Given the description of an element on the screen output the (x, y) to click on. 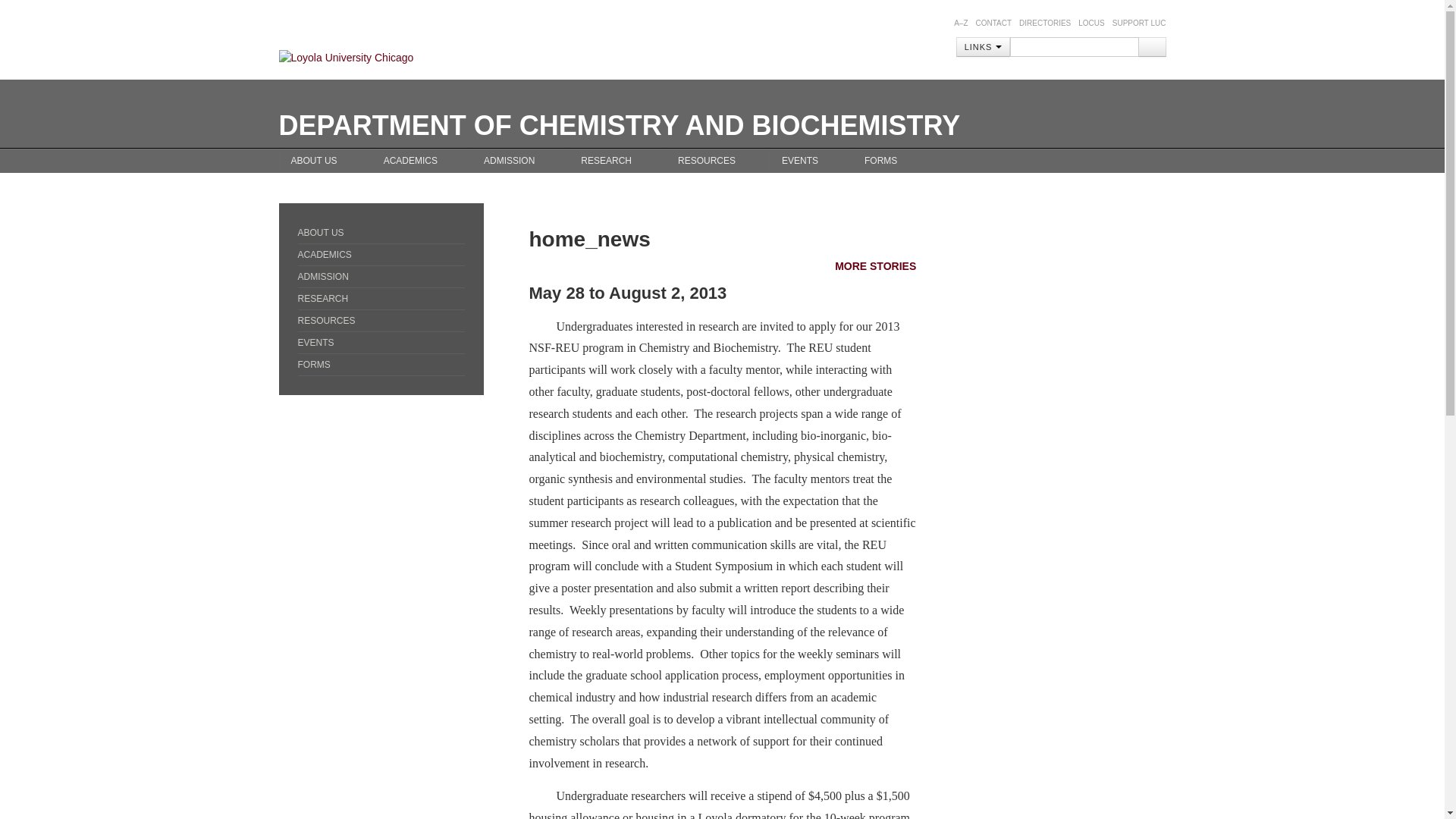
SUPPORT LUC (1139, 22)
LOCUS (1090, 22)
LINKS (983, 46)
Search Field (1074, 46)
DIRECTORIES (1044, 22)
CONTACT (993, 22)
